Given the description of an element on the screen output the (x, y) to click on. 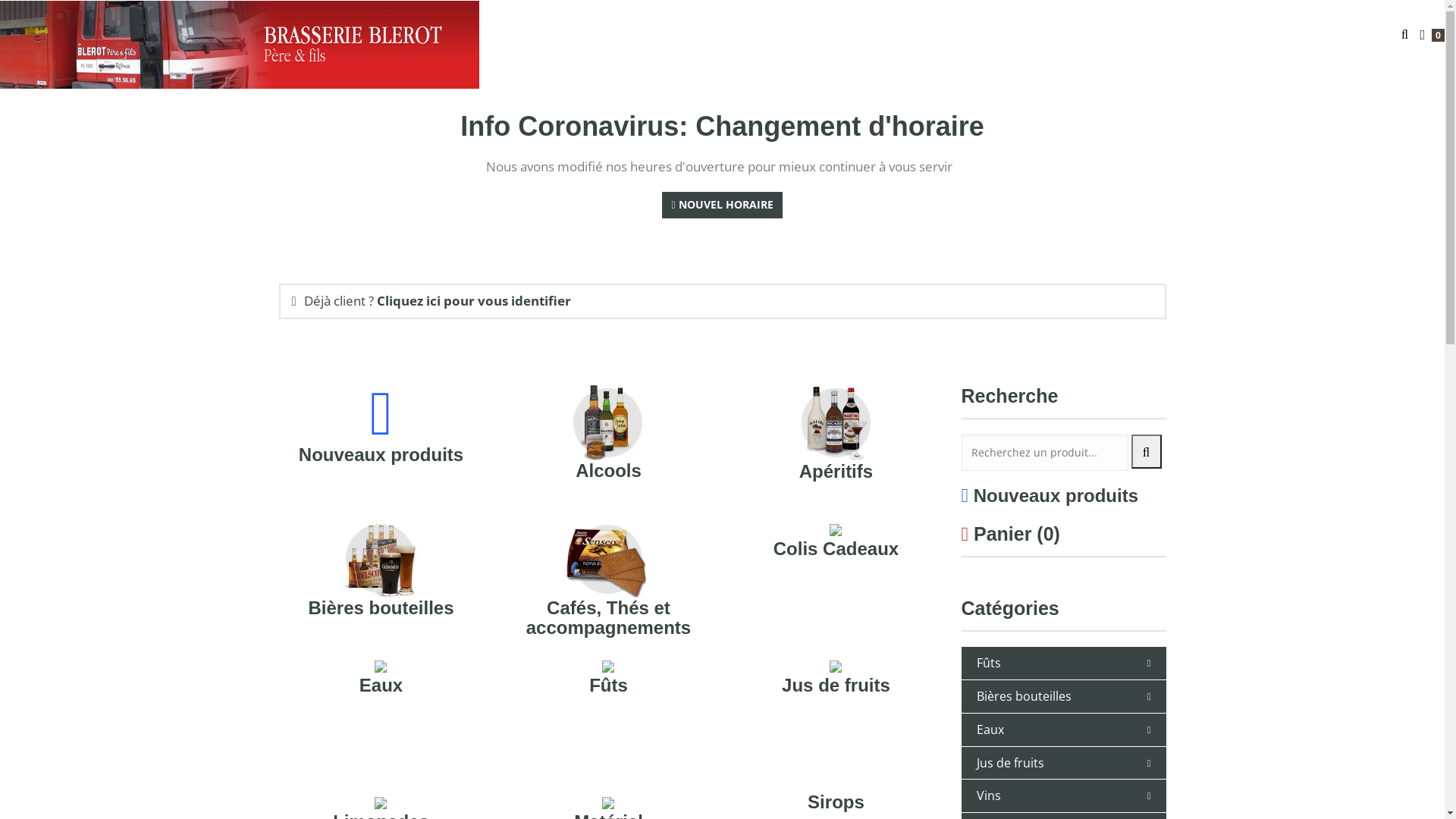
DEVIS Element type: text (1239, 34)
Colis Cadeaux Element type: text (835, 548)
Eaux Element type: text (990, 729)
0 Element type: text (1431, 34)
NOUVEL HORAIRE Element type: text (721, 204)
Vins Element type: text (988, 795)
Jus de fruits Element type: text (835, 684)
Panier (0) Element type: text (1016, 533)
ACCUEIL Element type: text (1024, 34)
MON COMPTE Element type: text (1111, 34)
Alcools Element type: text (608, 470)
Cliquez ici pour vous identifier Element type: text (473, 300)
NEWS Element type: text (1365, 34)
SHOP Element type: text (1189, 34)
Nouveaux produits Element type: text (380, 454)
CONTACT Element type: text (1301, 34)
Nouveaux produits Element type: text (1055, 495)
Jus de fruits Element type: text (1010, 762)
Sirops Element type: text (835, 801)
Recherchez un produit...: Element type: hover (1044, 452)
Eaux Element type: text (380, 684)
